Given the description of an element on the screen output the (x, y) to click on. 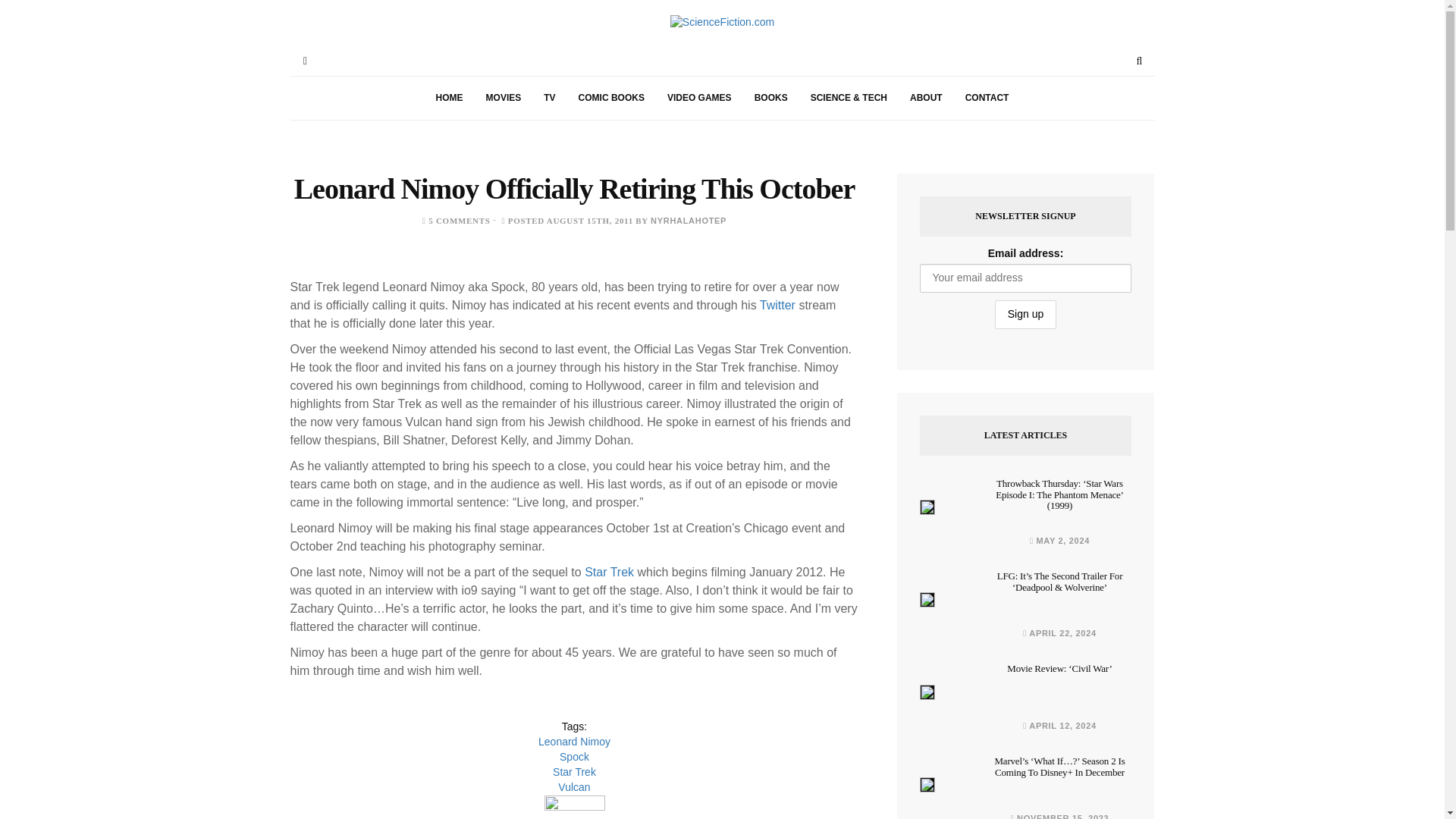
BOOKS (770, 97)
Sign up (1025, 314)
CONTACT (986, 97)
ABOUT (925, 97)
NYRHALAHOTEP (688, 220)
HOME (449, 97)
5 COMMENTS (458, 220)
COMIC BOOKS (611, 97)
Posts by Nyrhalahotep (688, 220)
Search (1139, 60)
